Given the description of an element on the screen output the (x, y) to click on. 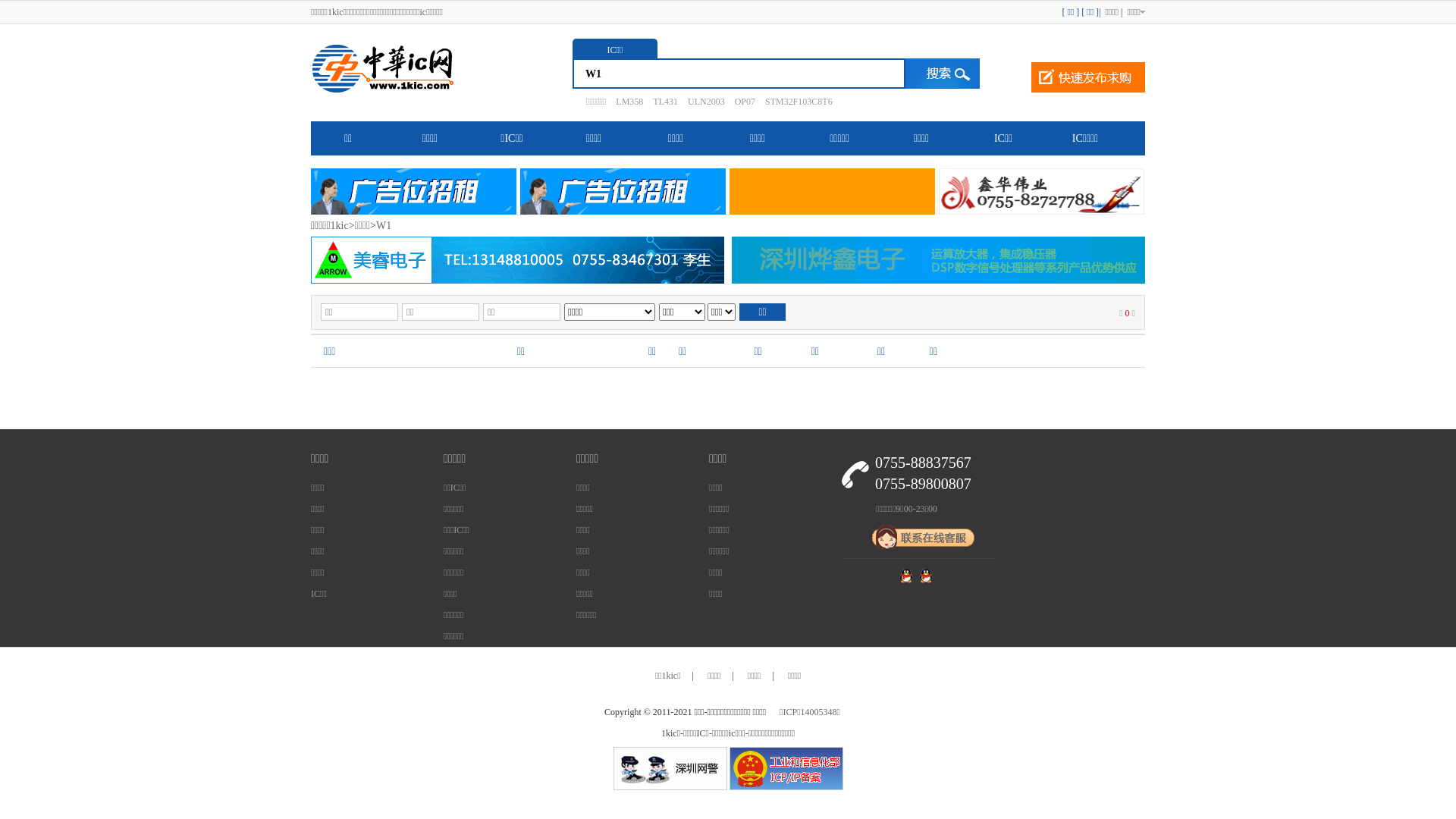
LM358 Element type: text (625, 101)
W1 Element type: text (383, 225)
STM32F103C8T6 Element type: text (794, 101)
OP07 Element type: text (741, 101)
1kic Element type: text (339, 225)
ULN2003 Element type: text (702, 101)
TL431 Element type: text (661, 101)
